Given the description of an element on the screen output the (x, y) to click on. 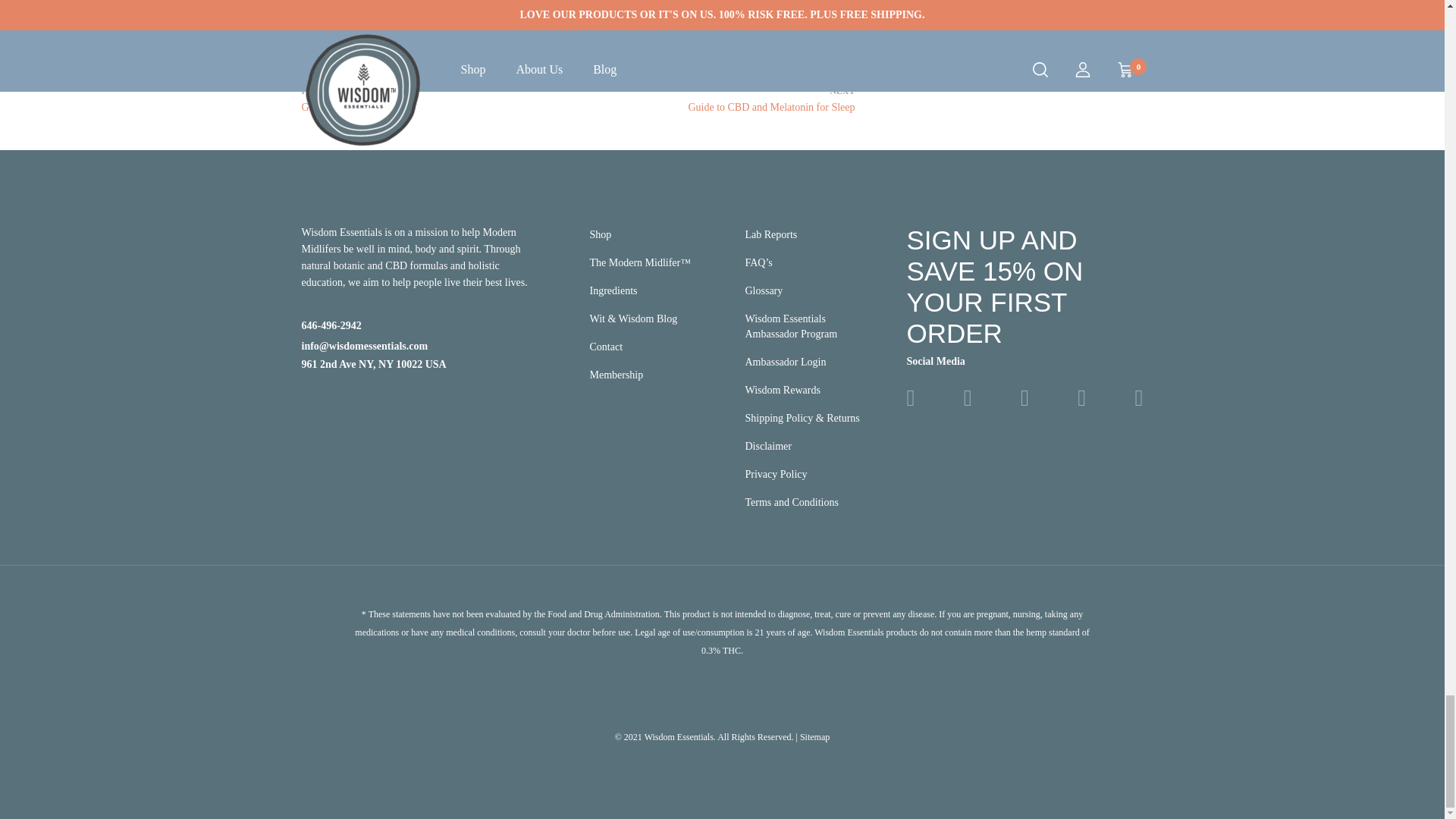
products (716, 99)
